Given the description of an element on the screen output the (x, y) to click on. 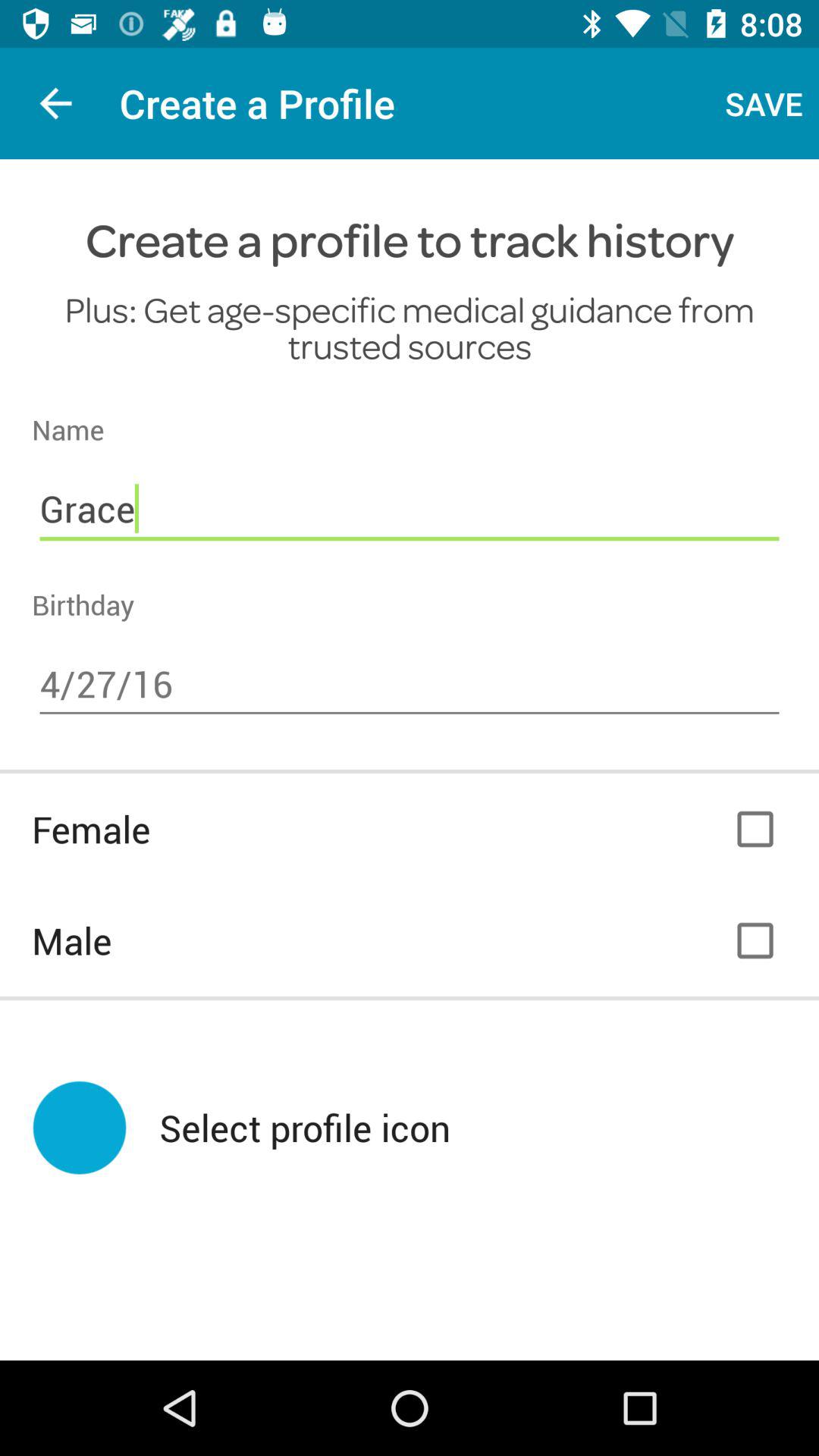
choose male gender (755, 940)
